Given the description of an element on the screen output the (x, y) to click on. 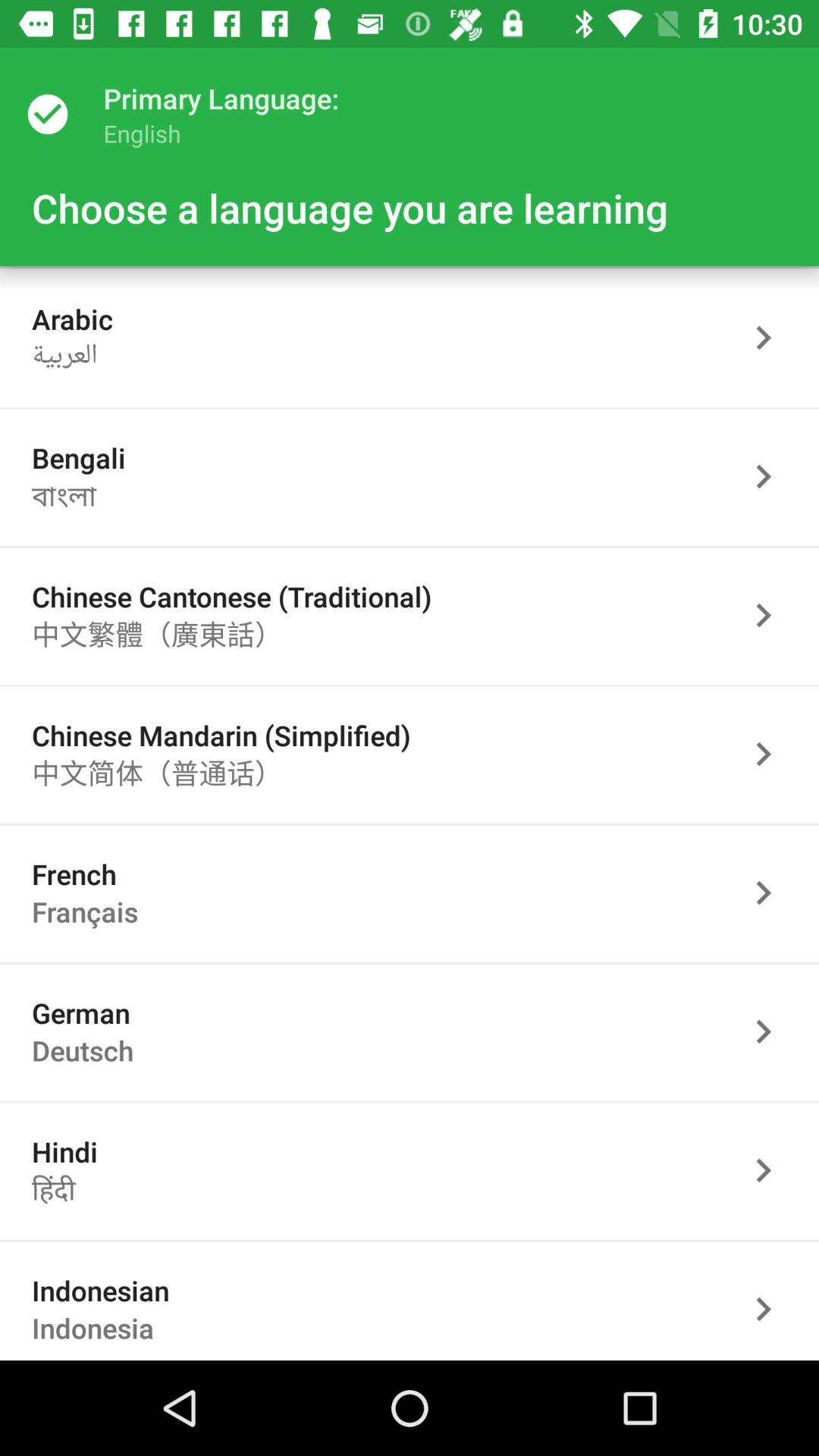
select language (771, 1306)
